Given the description of an element on the screen output the (x, y) to click on. 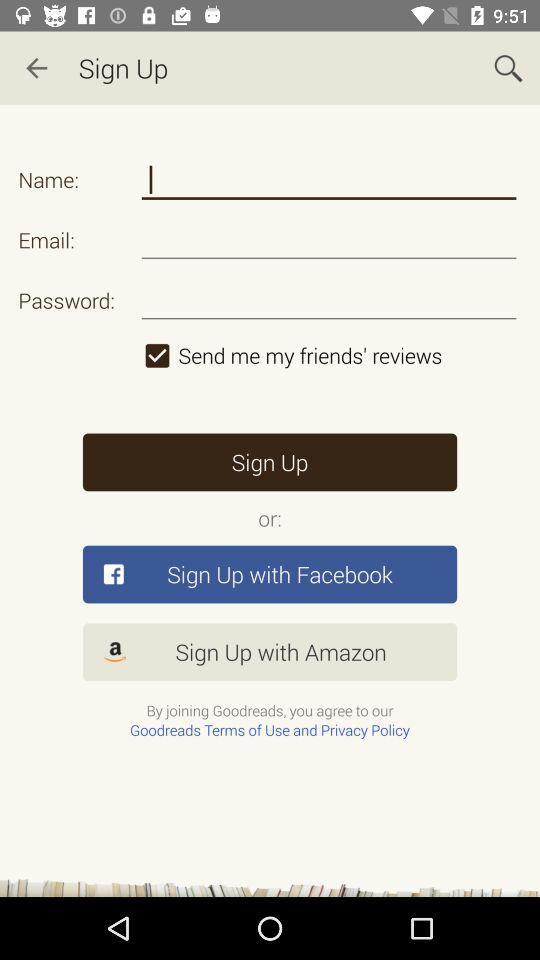
enter password (328, 300)
